Given the description of an element on the screen output the (x, y) to click on. 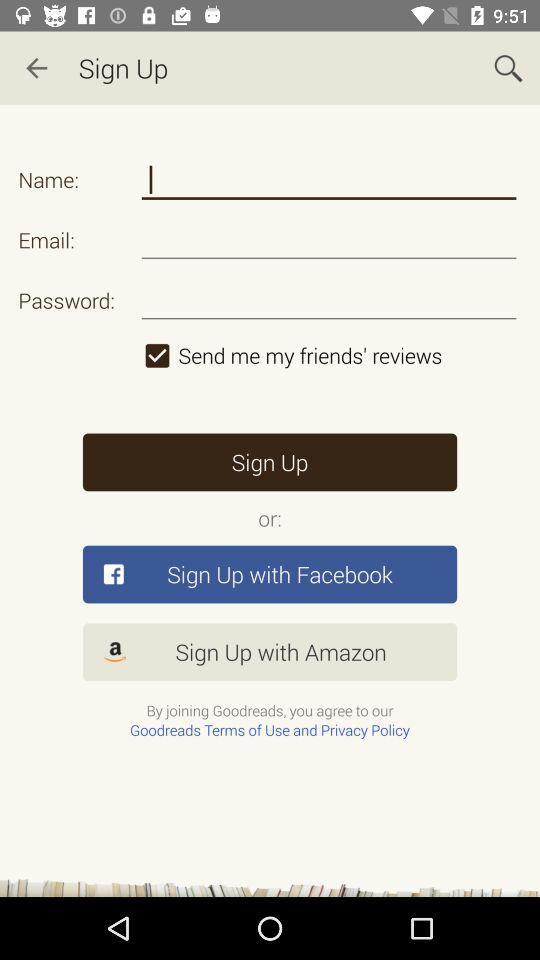
enter password (328, 300)
